Given the description of an element on the screen output the (x, y) to click on. 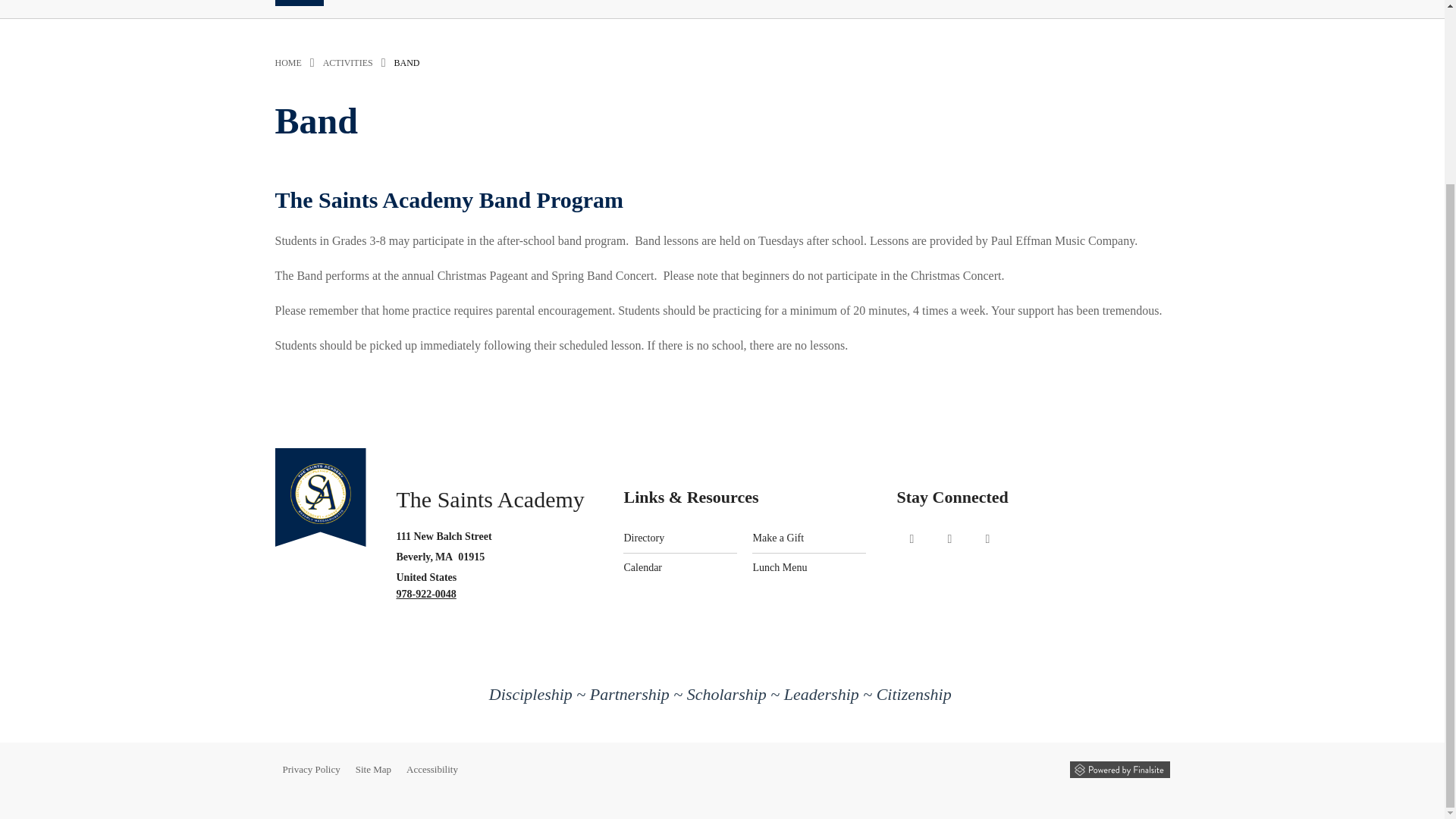
Powered by Finalsite opens in a new window (1118, 768)
